Given the description of an element on the screen output the (x, y) to click on. 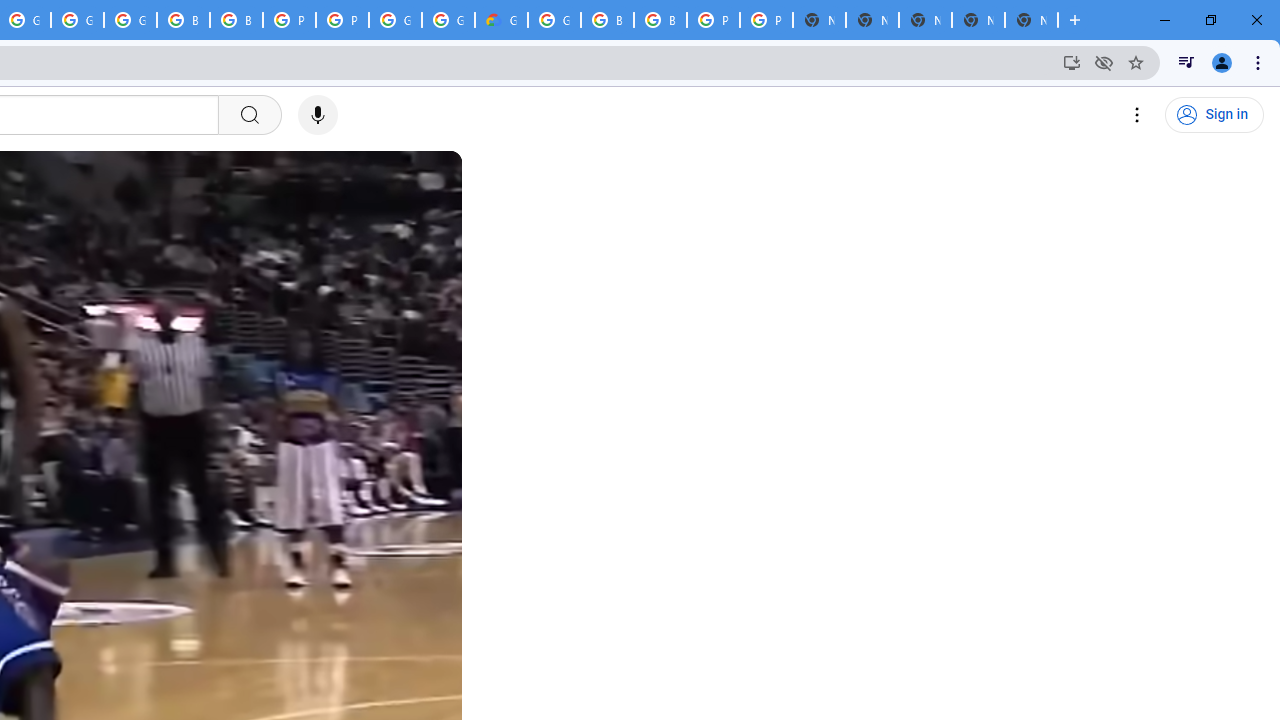
Google Cloud Platform (448, 20)
Search (249, 115)
Browse Chrome as a guest - Computer - Google Chrome Help (607, 20)
Google Cloud Estimate Summary (501, 20)
Browse Chrome as a guest - Computer - Google Chrome Help (235, 20)
Browse Chrome as a guest - Computer - Google Chrome Help (183, 20)
Browse Chrome as a guest - Computer - Google Chrome Help (660, 20)
Install YouTube (1071, 62)
